Given the description of an element on the screen output the (x, y) to click on. 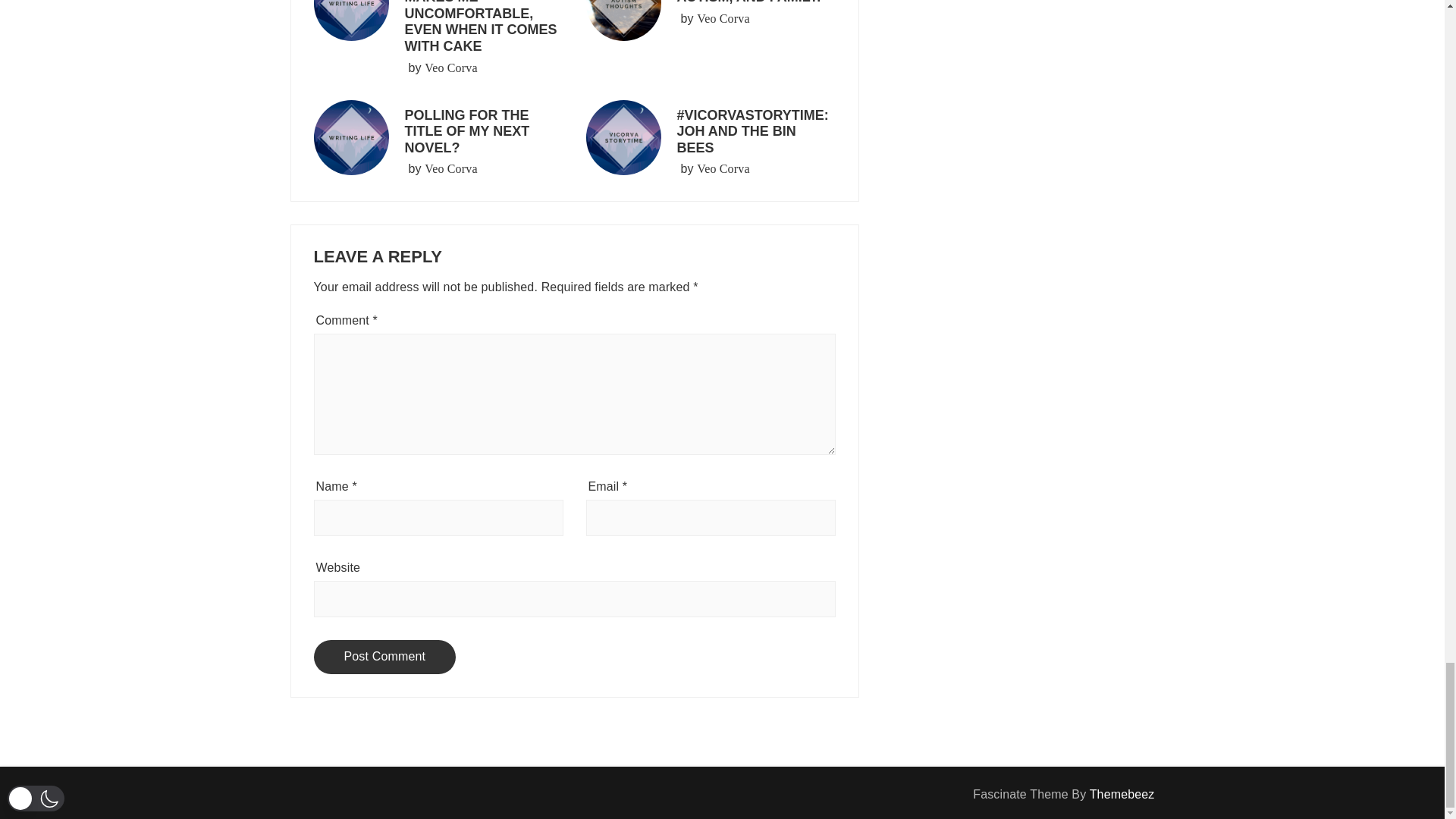
Veo Corva (723, 168)
Veo Corva (451, 168)
UNFULFILLED: CATS, AUTISM, AND FAMILY. (749, 2)
Post Comment (385, 656)
Post Comment (385, 656)
Veo Corva (723, 18)
POLLING FOR THE TITLE OF MY NEXT NOVEL? (466, 131)
Veo Corva (451, 67)
